Given the description of an element on the screen output the (x, y) to click on. 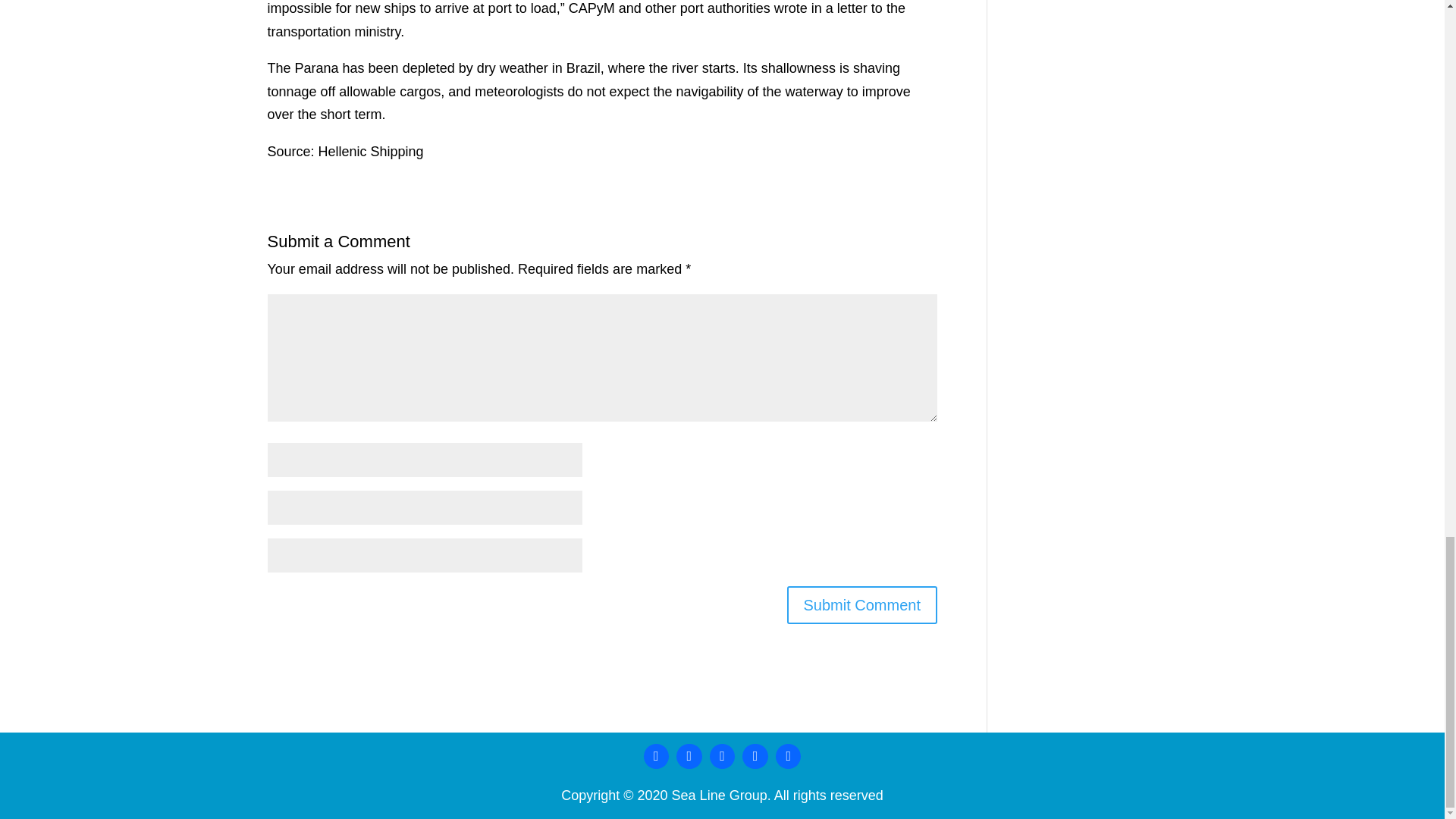
Instagram (722, 756)
Submit Comment (862, 605)
WordPress (754, 756)
Whatsapp (788, 756)
Submit Comment (862, 605)
Linkedin (689, 756)
Facebook (656, 756)
